Given the description of an element on the screen output the (x, y) to click on. 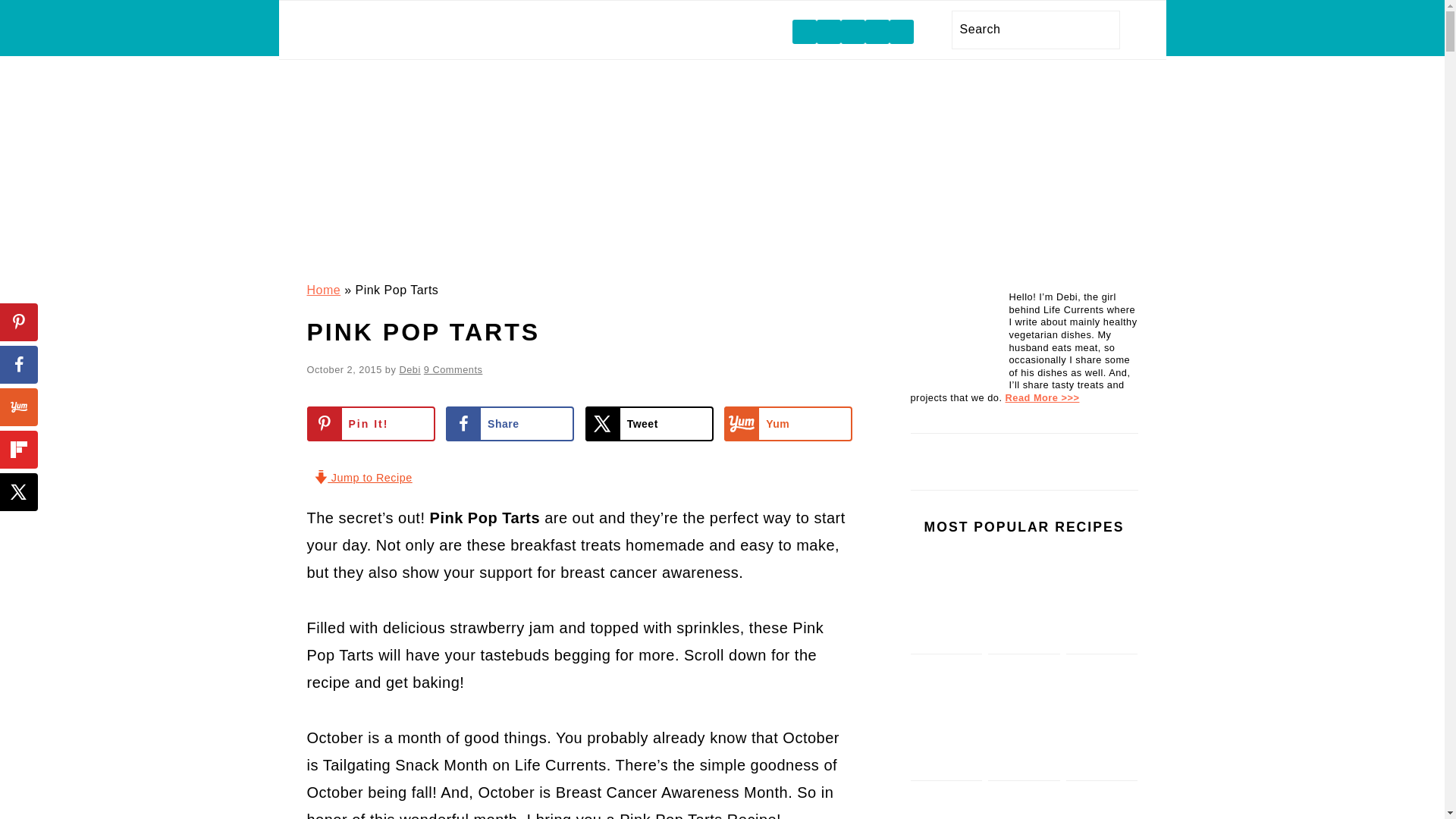
Share on Yummly (787, 423)
Share on Facebook (509, 423)
Home (322, 289)
HOME (361, 29)
ABOUT (444, 29)
Debi (409, 369)
Pin It! (369, 423)
Share (509, 423)
Jump to Recipe (362, 478)
Share on X (649, 423)
Life Currents (721, 243)
BROWSE RECIPES (571, 29)
Tweet (649, 423)
